Given the description of an element on the screen output the (x, y) to click on. 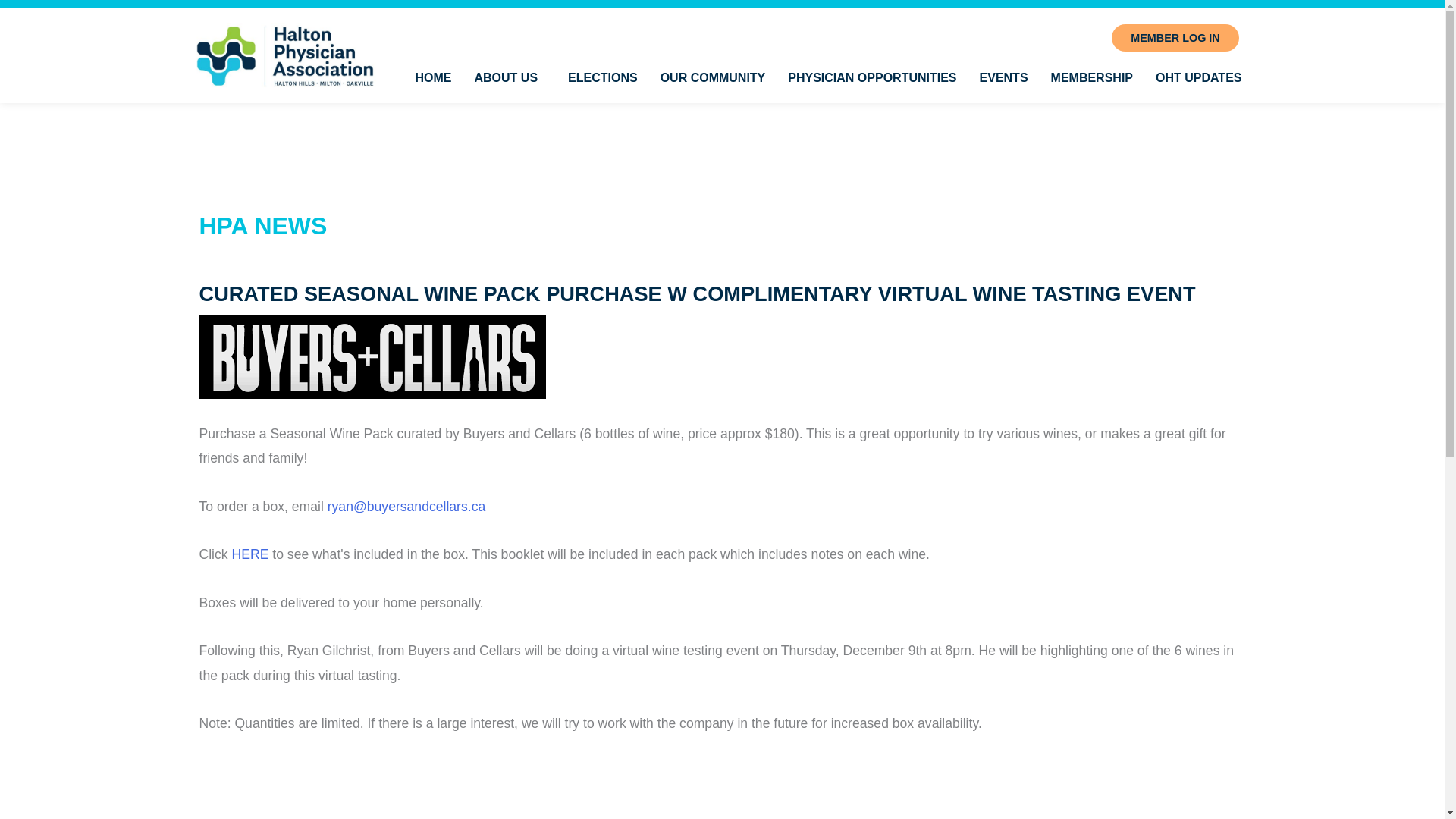
PHYSICIAN OPPORTUNITIES (872, 78)
HERE (250, 554)
MEMBER LOG IN (1175, 37)
MEMBERSHIP (1091, 78)
HOME (433, 78)
ELECTIONS (602, 78)
OHT UPDATES (1198, 78)
EVENTS (1003, 78)
OUR COMMUNITY (713, 78)
ABOUT US (509, 78)
